Given the description of an element on the screen output the (x, y) to click on. 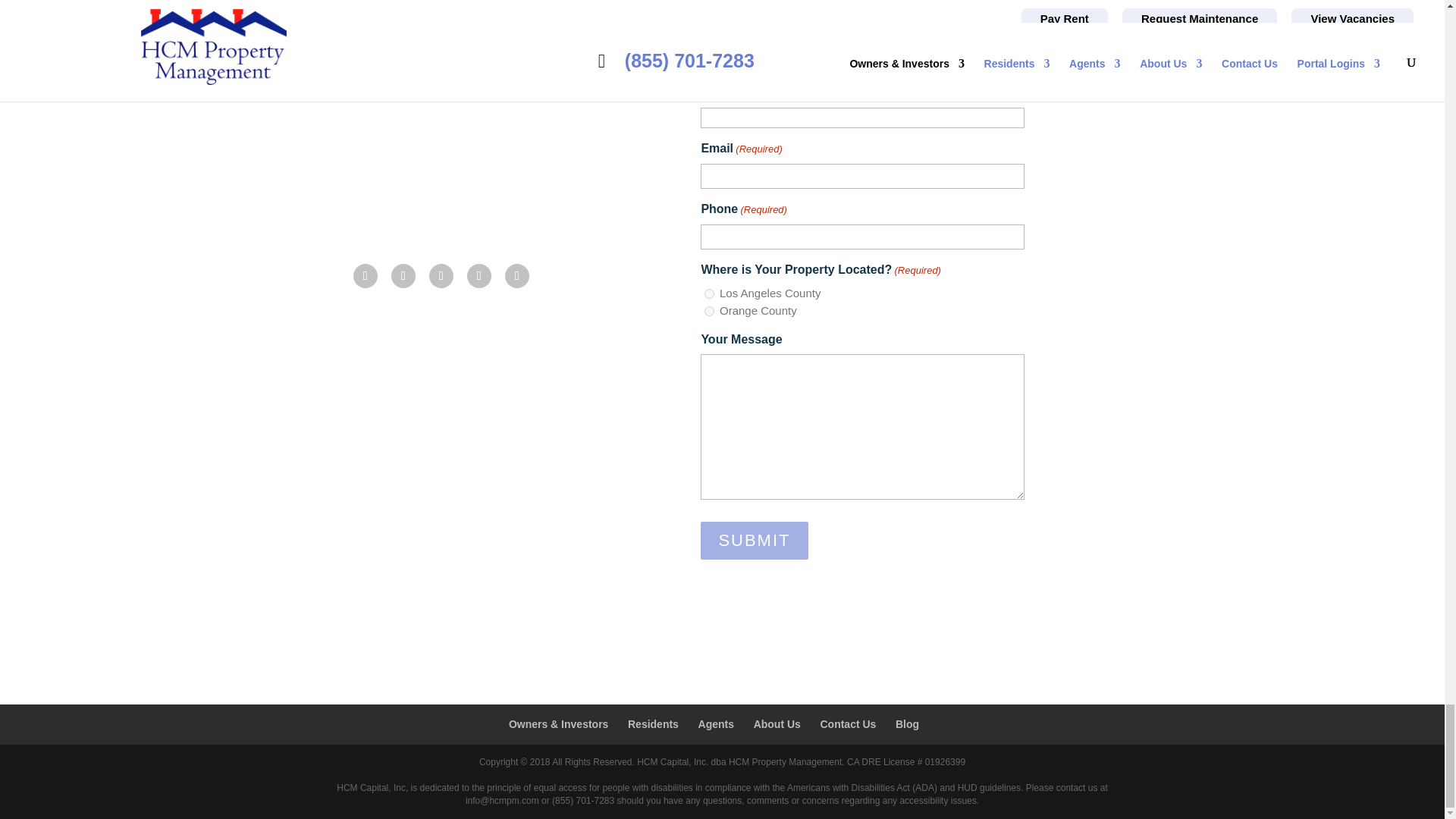
Follow on Facebook (365, 275)
Follow on LinkedIn (440, 275)
Follow on Yelp (517, 275)
SUBMIT (754, 540)
Follow on Youtube (479, 275)
Follow on X (402, 275)
Orange County (709, 311)
Los Angeles County (709, 293)
